Given the description of an element on the screen output the (x, y) to click on. 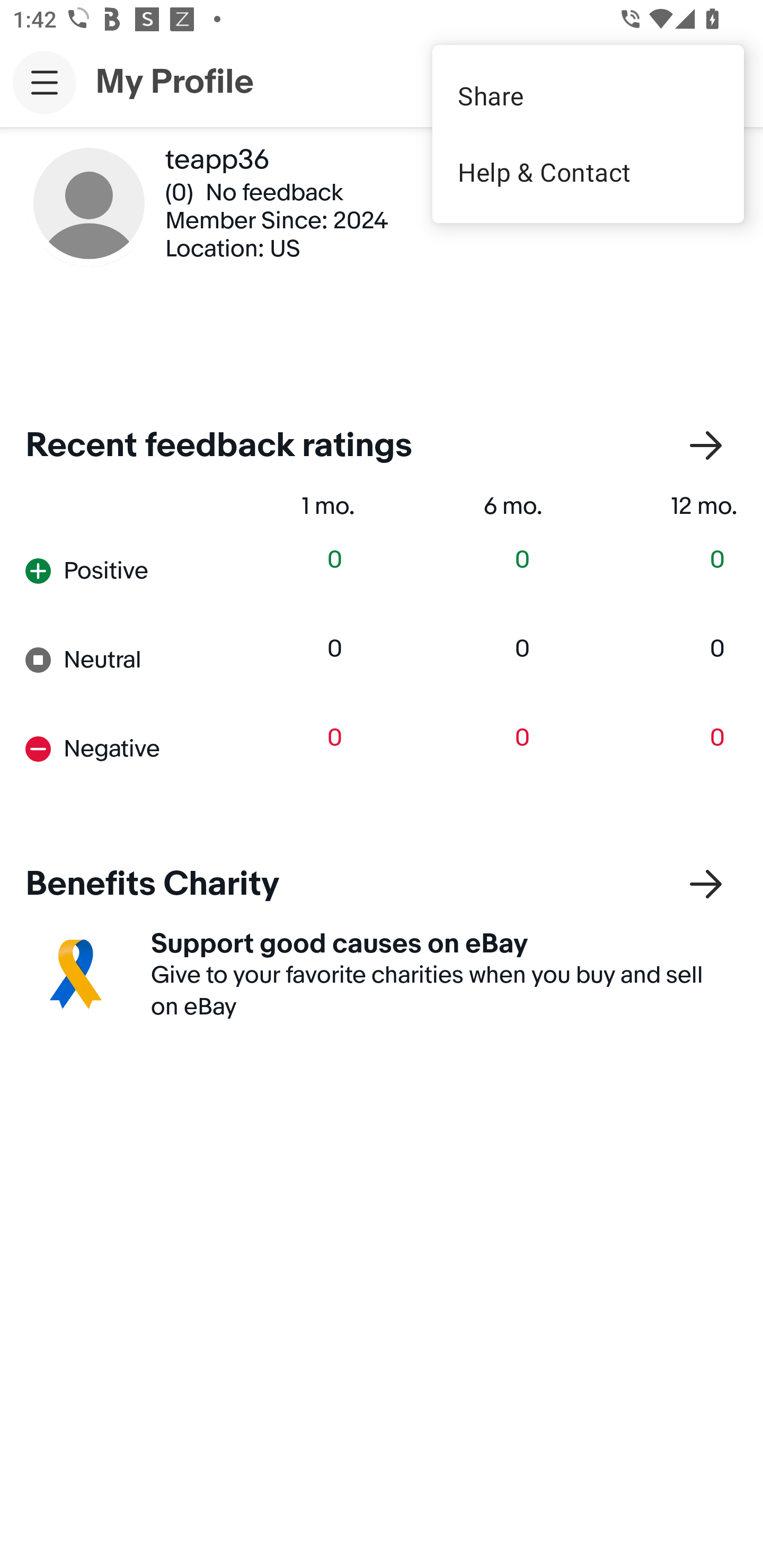
Share (587, 95)
Help & Contact (587, 171)
